Given the description of an element on the screen output the (x, y) to click on. 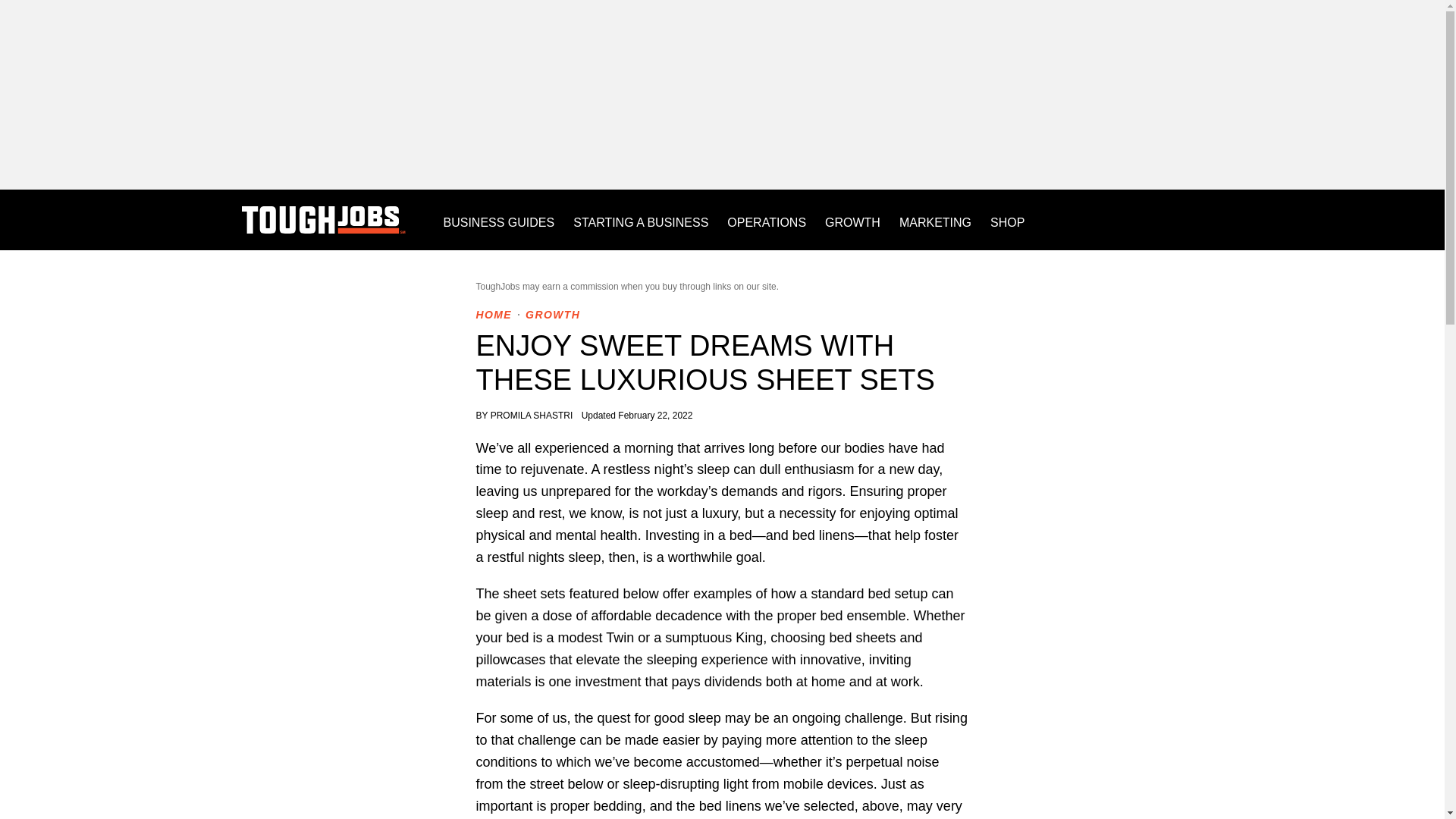
GROWTH (852, 219)
GROWTH (552, 314)
MARKETING (935, 219)
OPERATIONS (766, 219)
BUSINESS GUIDES (498, 219)
STARTING A BUSINESS (640, 219)
HOME (494, 314)
PROMILA SHASTRI (532, 415)
